Given the description of an element on the screen output the (x, y) to click on. 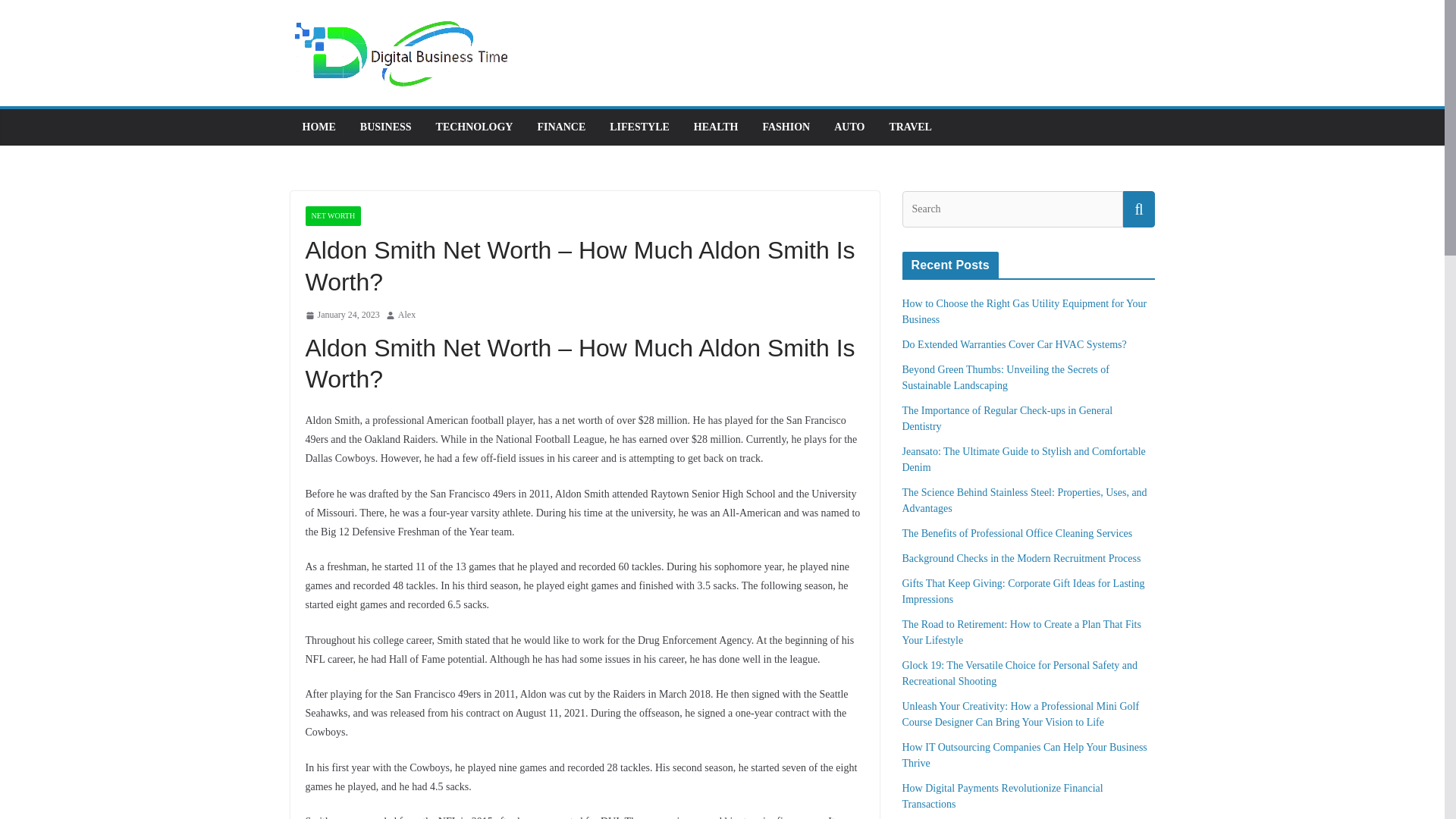
HEALTH (716, 127)
Alex (405, 315)
TRAVEL (909, 127)
January 24, 2023 (341, 315)
LIFESTYLE (639, 127)
TECHNOLOGY (474, 127)
FINANCE (561, 127)
HOME (317, 127)
NET WORTH (332, 216)
5:21 pm (341, 315)
The Importance of Regular Check-ups in General Dentistry (1007, 418)
AUTO (849, 127)
BUSINESS (385, 127)
